Given the description of an element on the screen output the (x, y) to click on. 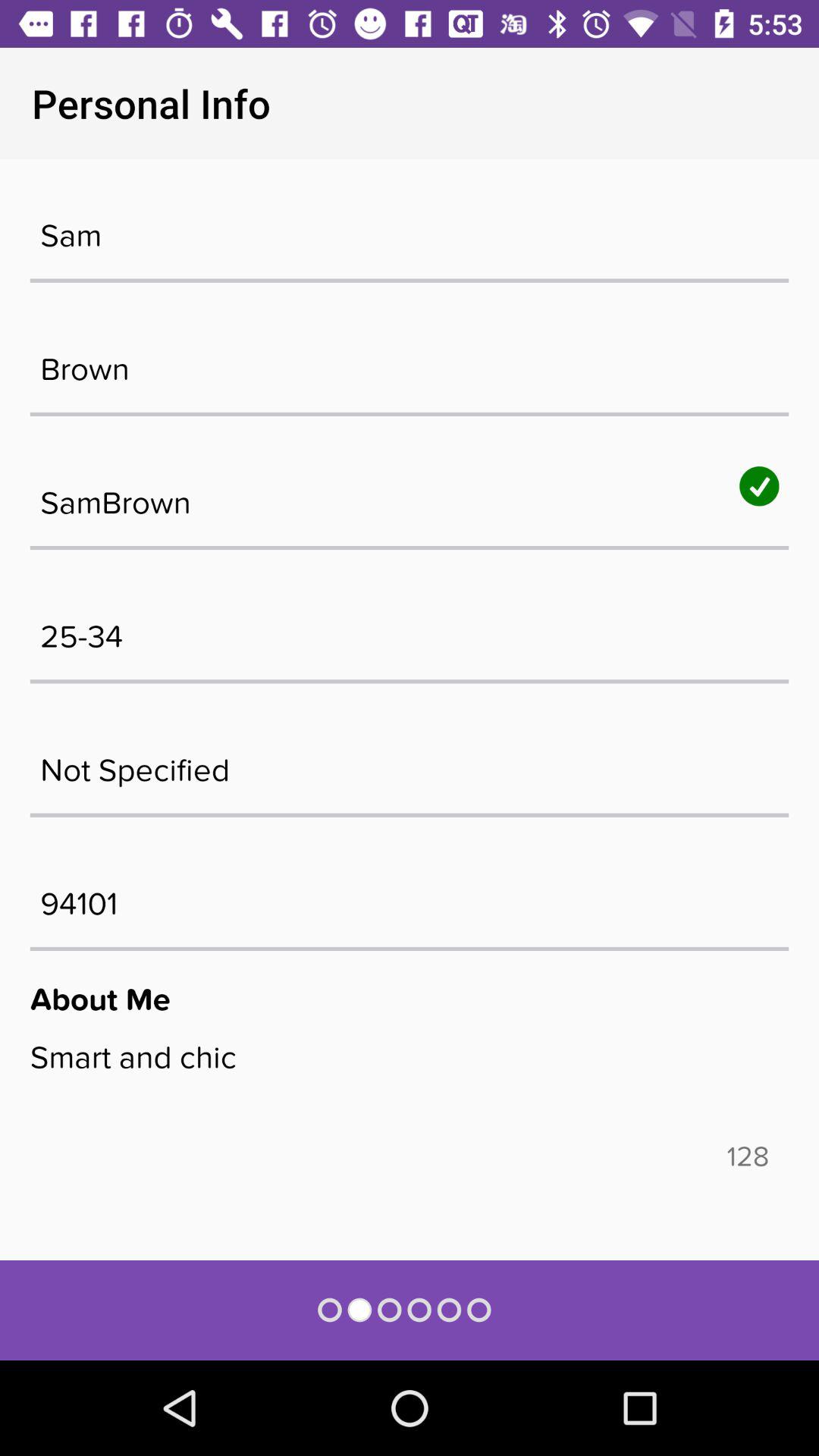
turn off brown icon (409, 361)
